Given the description of an element on the screen output the (x, y) to click on. 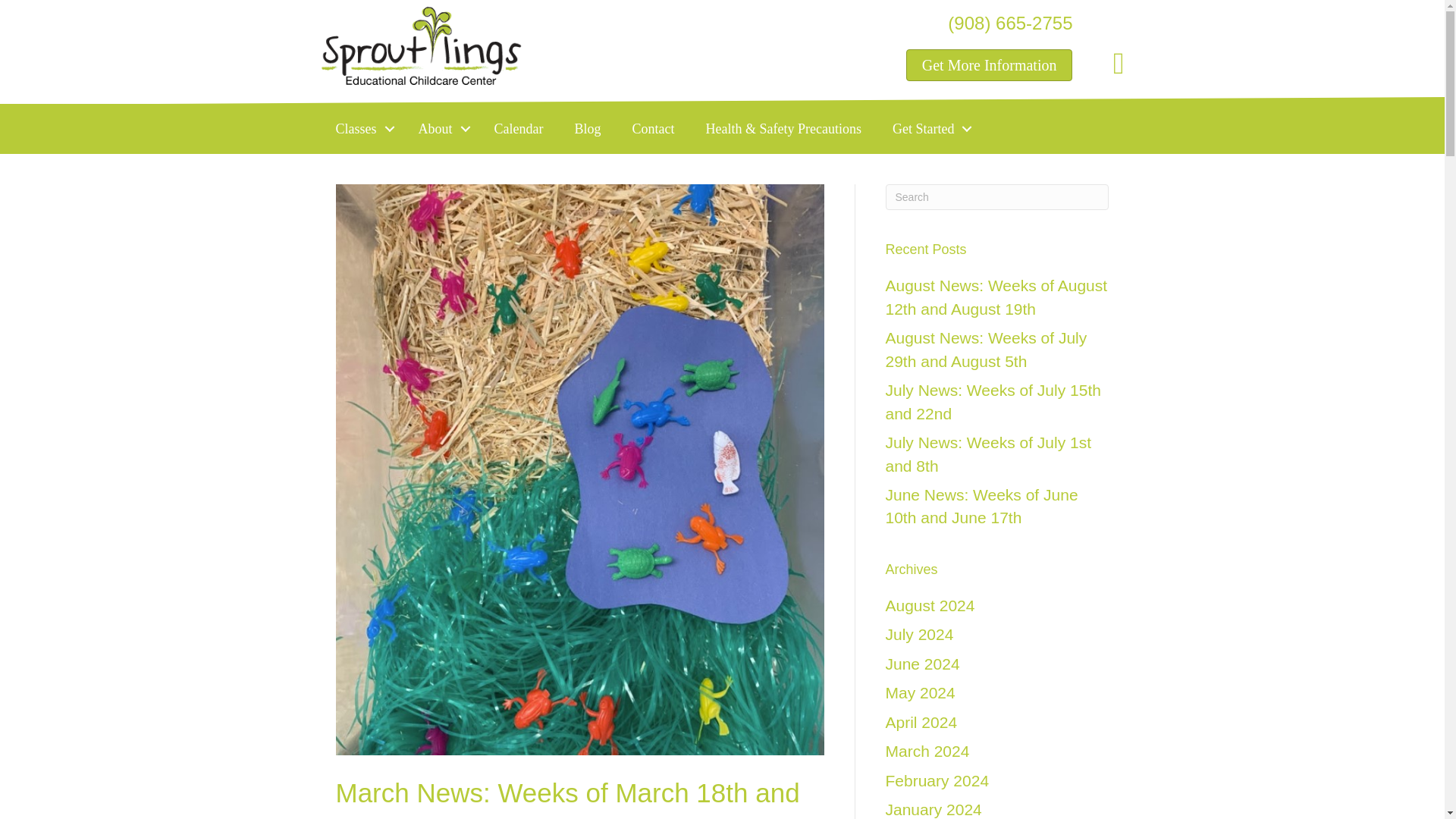
Calendar (519, 128)
Contact (651, 128)
Blog (587, 128)
Type and press Enter to search. (997, 196)
sproutlings-logo-2 (421, 46)
Get More Information (989, 65)
Get Started (928, 128)
Classes (360, 128)
About (441, 128)
